Given the description of an element on the screen output the (x, y) to click on. 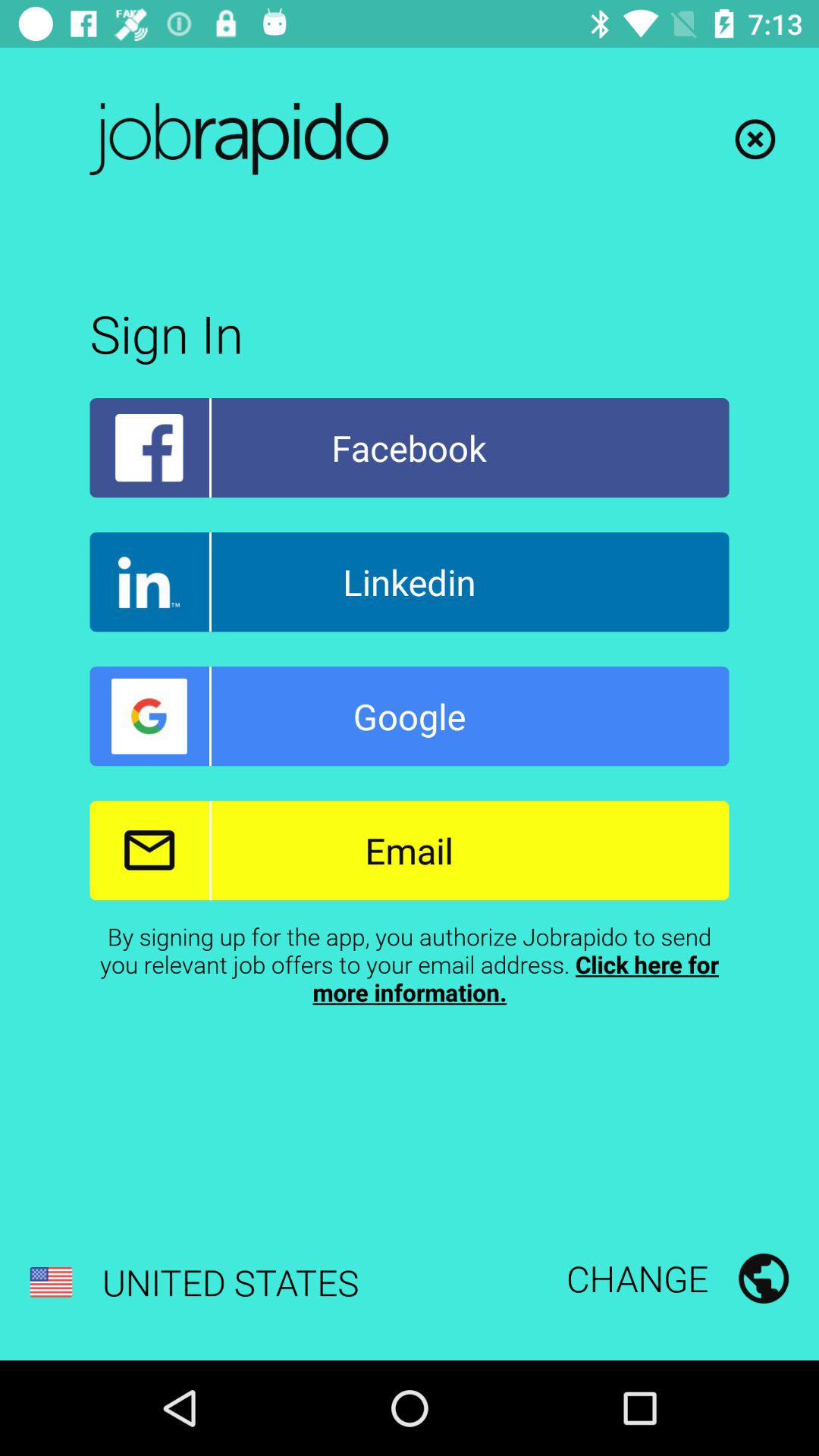
turn on united states at the bottom left corner (194, 1282)
